Given the description of an element on the screen output the (x, y) to click on. 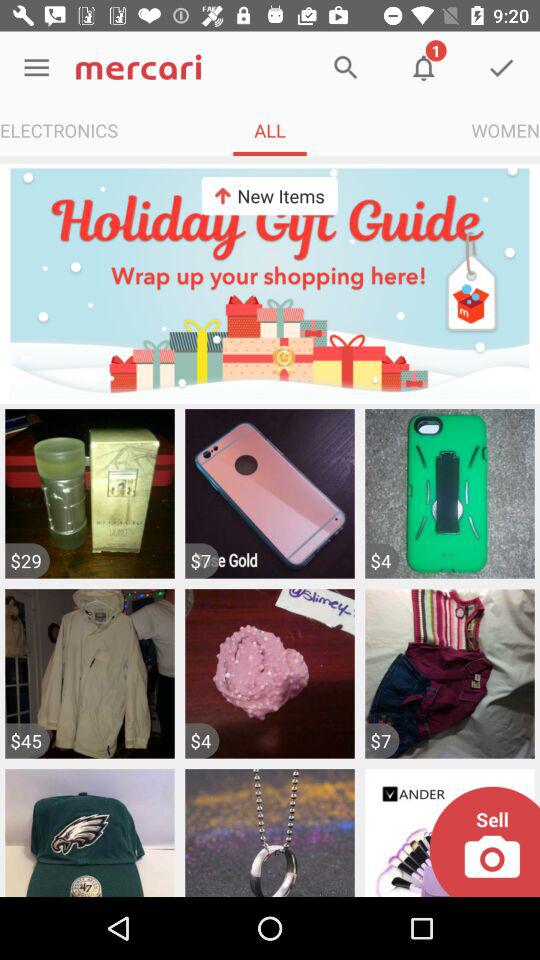
turn on the $29 app (27, 560)
